Given the description of an element on the screen output the (x, y) to click on. 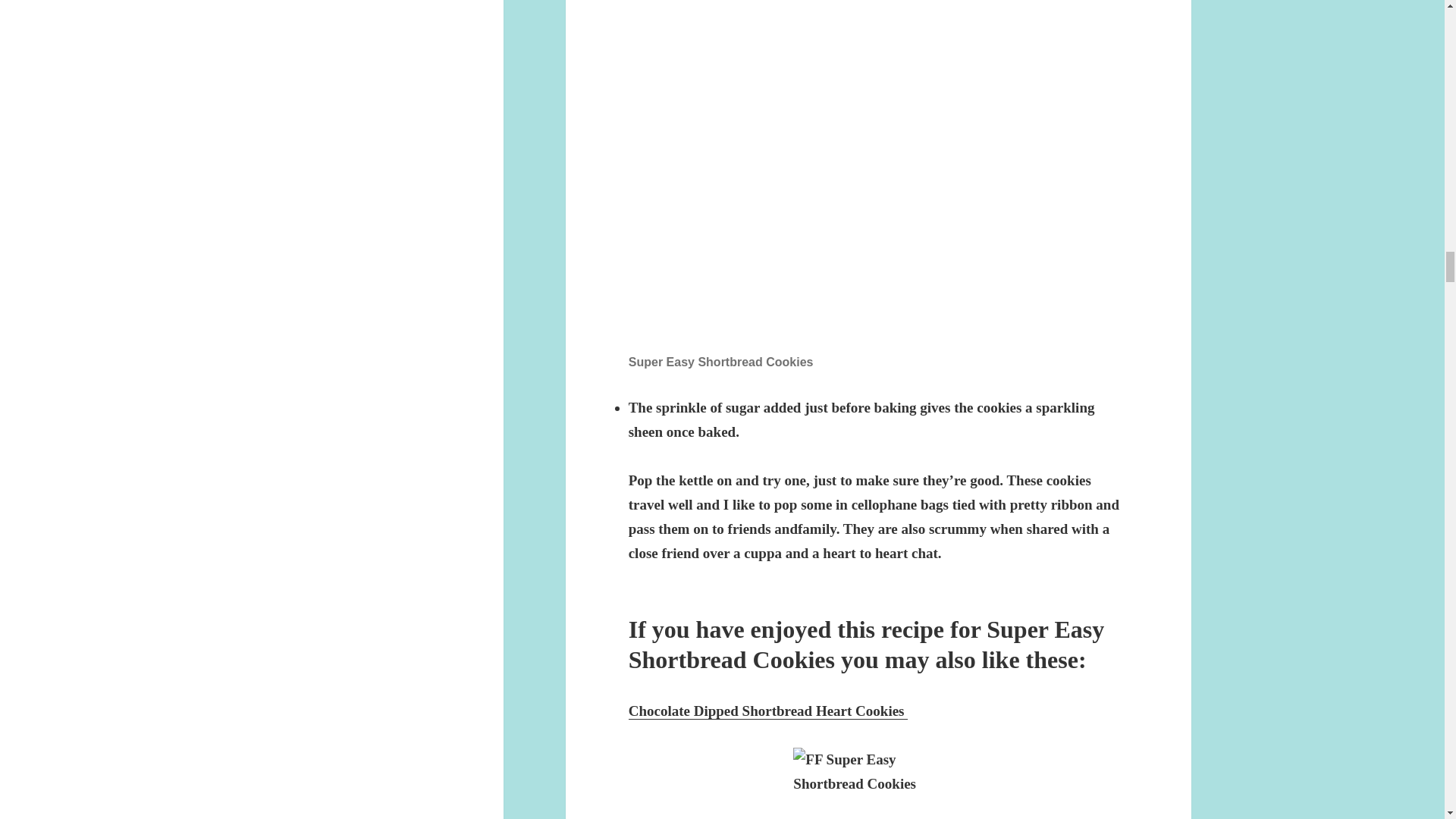
Chocolate Dipped Shortbread Heart Cookies  (768, 710)
